Given the description of an element on the screen output the (x, y) to click on. 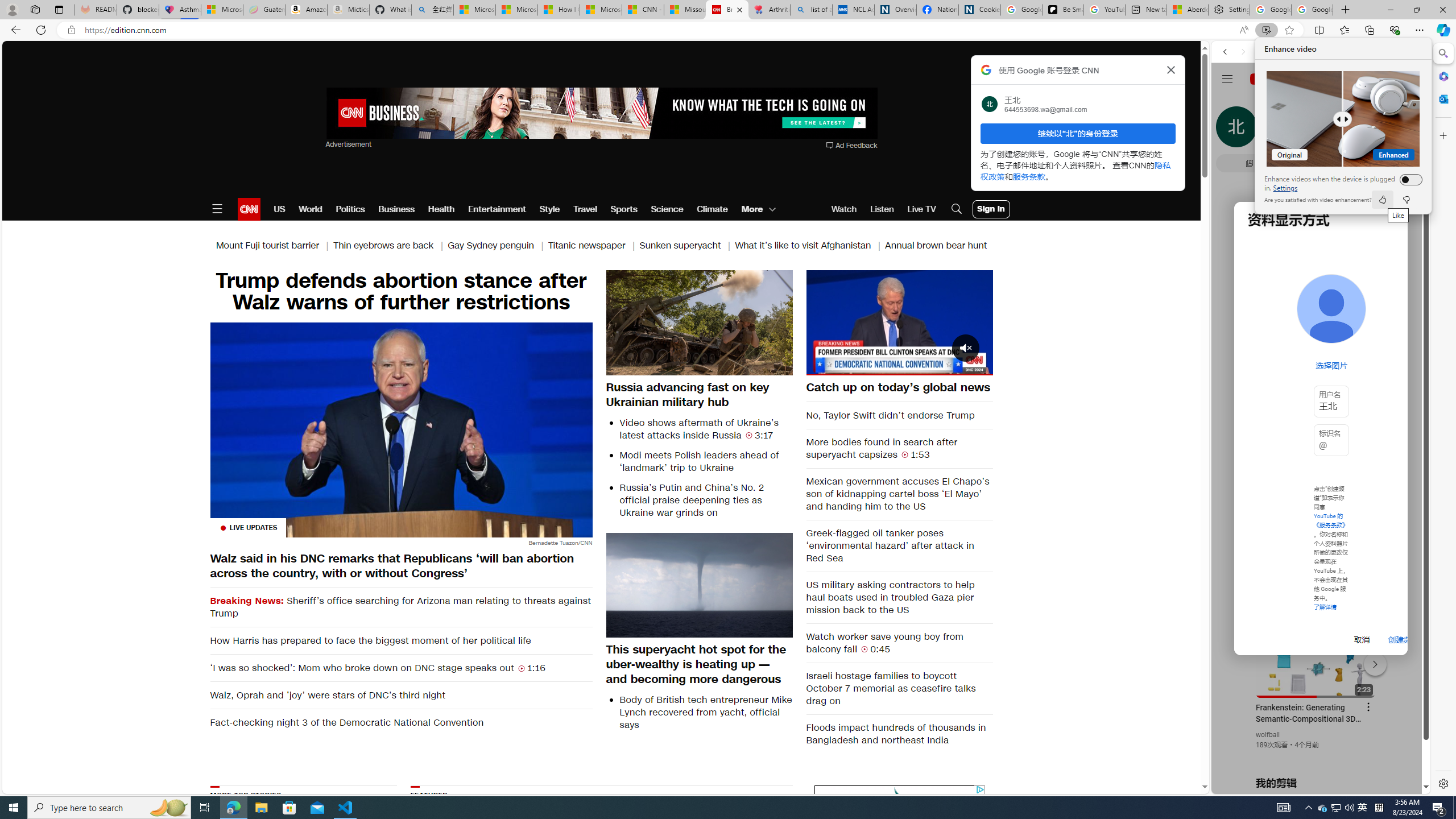
Unmute (821, 365)
Pause (1322, 807)
Google (898, 322)
Thin eyebrows are back | (1320, 281)
How I Got Rid of Microsoft Edge's Unnecessary Features (390, 245)
Click to scroll right (558, 9)
AutomationID: 4105 (1407, 456)
#you (1283, 807)
